Given the description of an element on the screen output the (x, y) to click on. 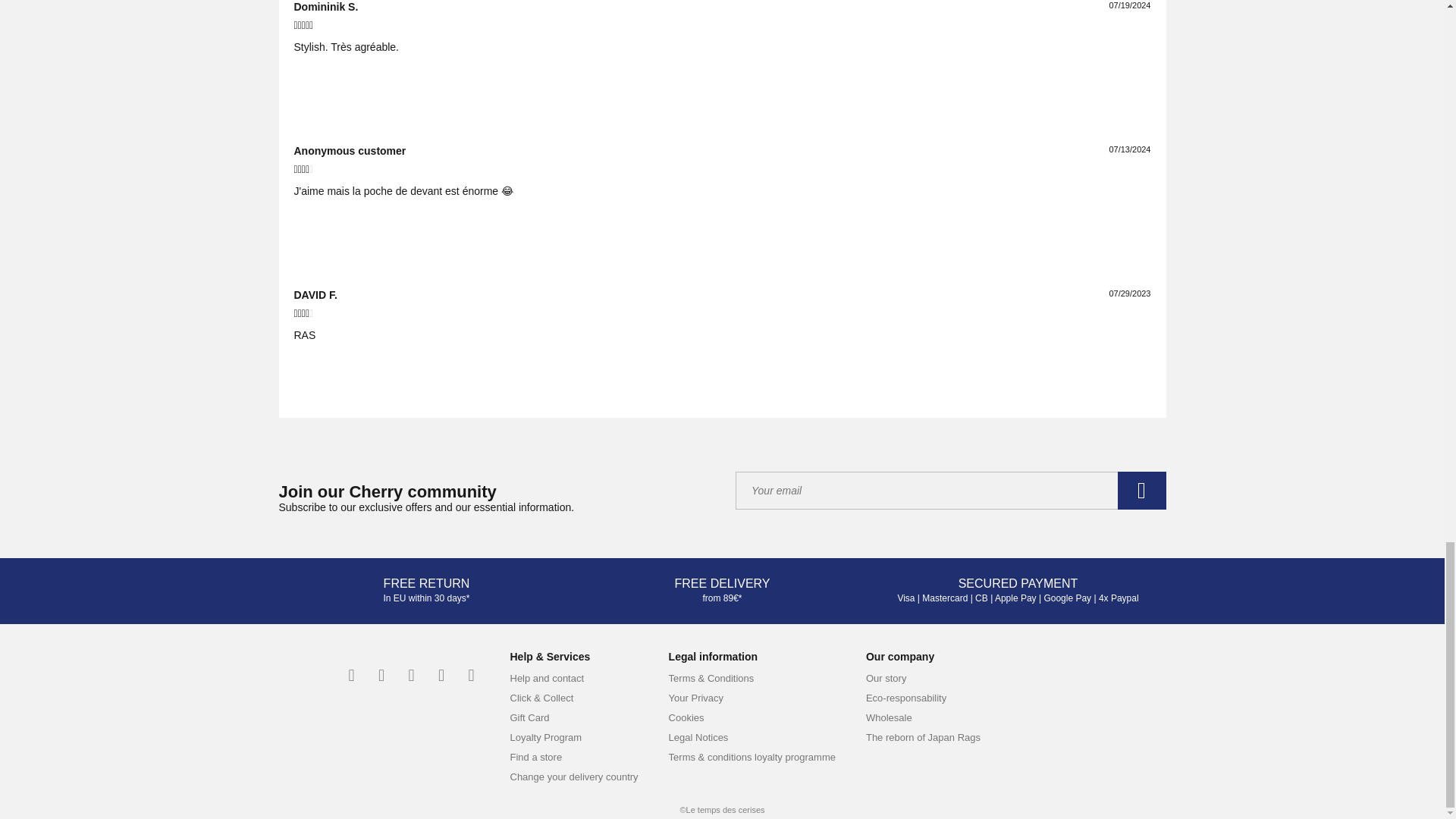
Subscribe (1142, 490)
